Given the description of an element on the screen output the (x, y) to click on. 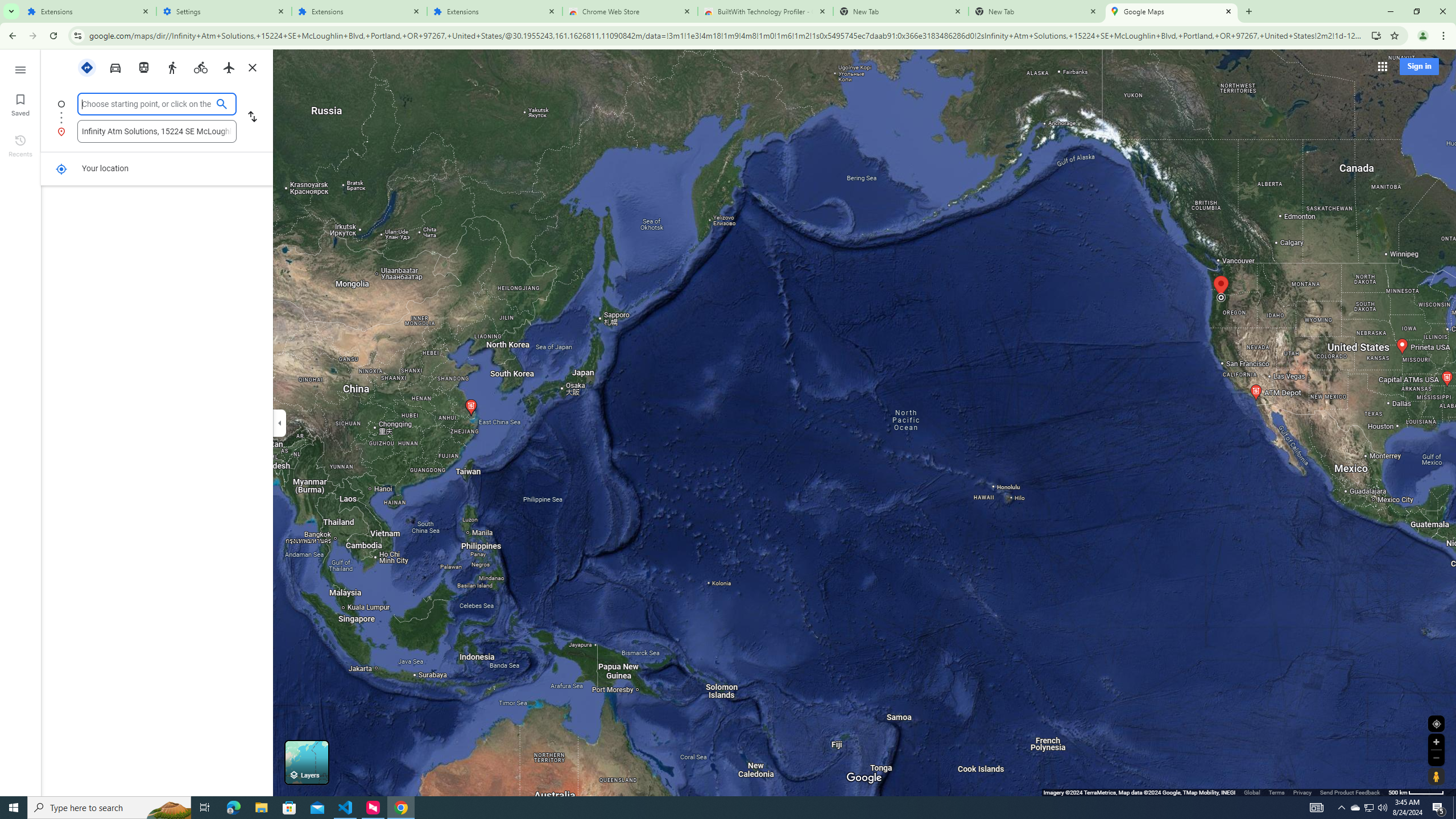
Google apps (1381, 66)
Send Product Feedback (1350, 792)
Show Street View coverage (1436, 776)
Restore (1416, 11)
500 m (1416, 792)
Reverse starting point and destination (251, 117)
Forward (32, 35)
AutomationID: sb_ifc50 (146, 103)
Minimize (1390, 11)
Extensions (88, 11)
Best travel modes (87, 66)
Flights (228, 66)
Terms (1276, 792)
Reload (52, 35)
